Given the description of an element on the screen output the (x, y) to click on. 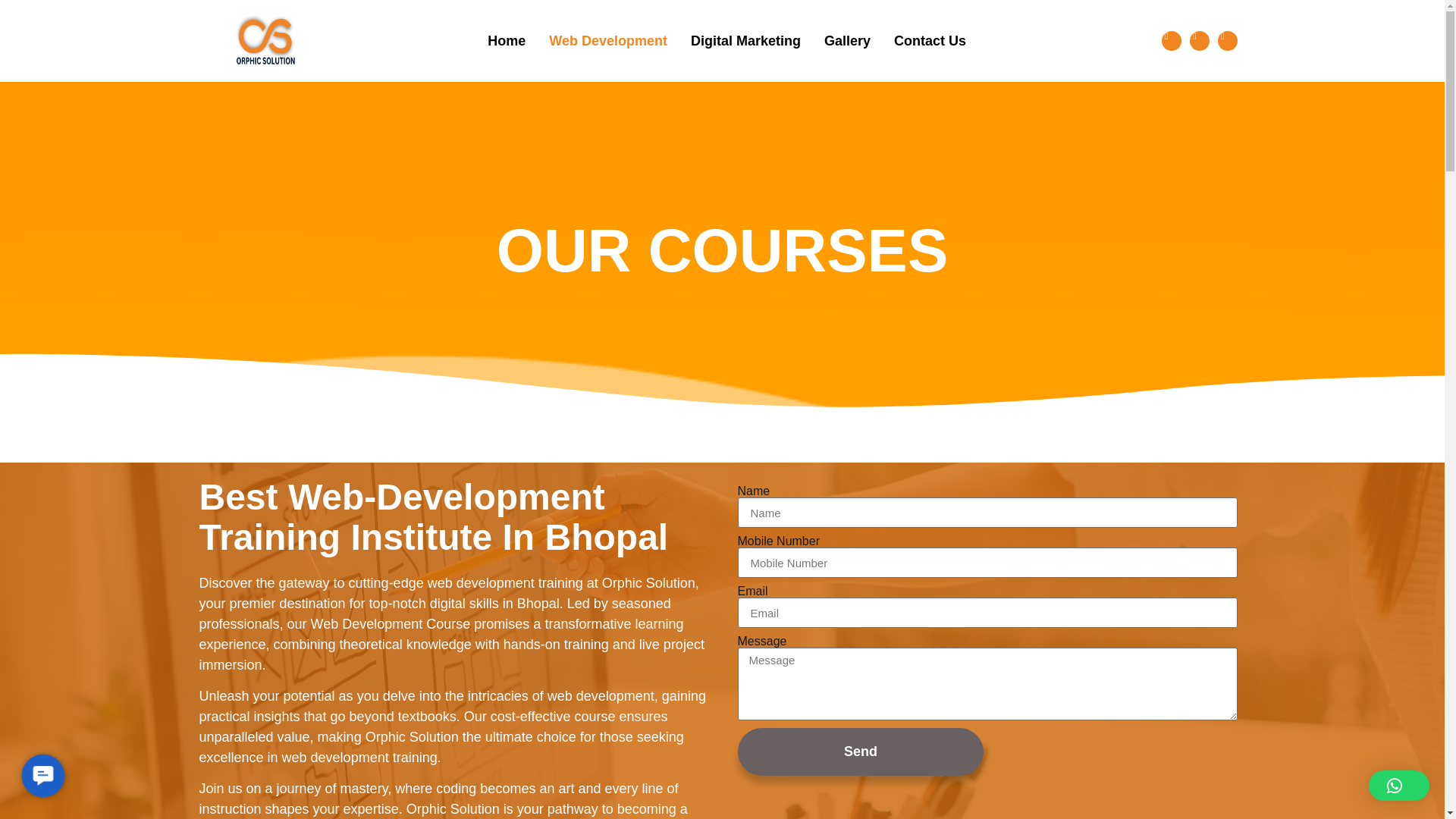
Contact Us (918, 41)
Gallery (835, 41)
Send (860, 751)
Web Development (595, 41)
Home (494, 41)
Digital Marketing (733, 41)
